Given the description of an element on the screen output the (x, y) to click on. 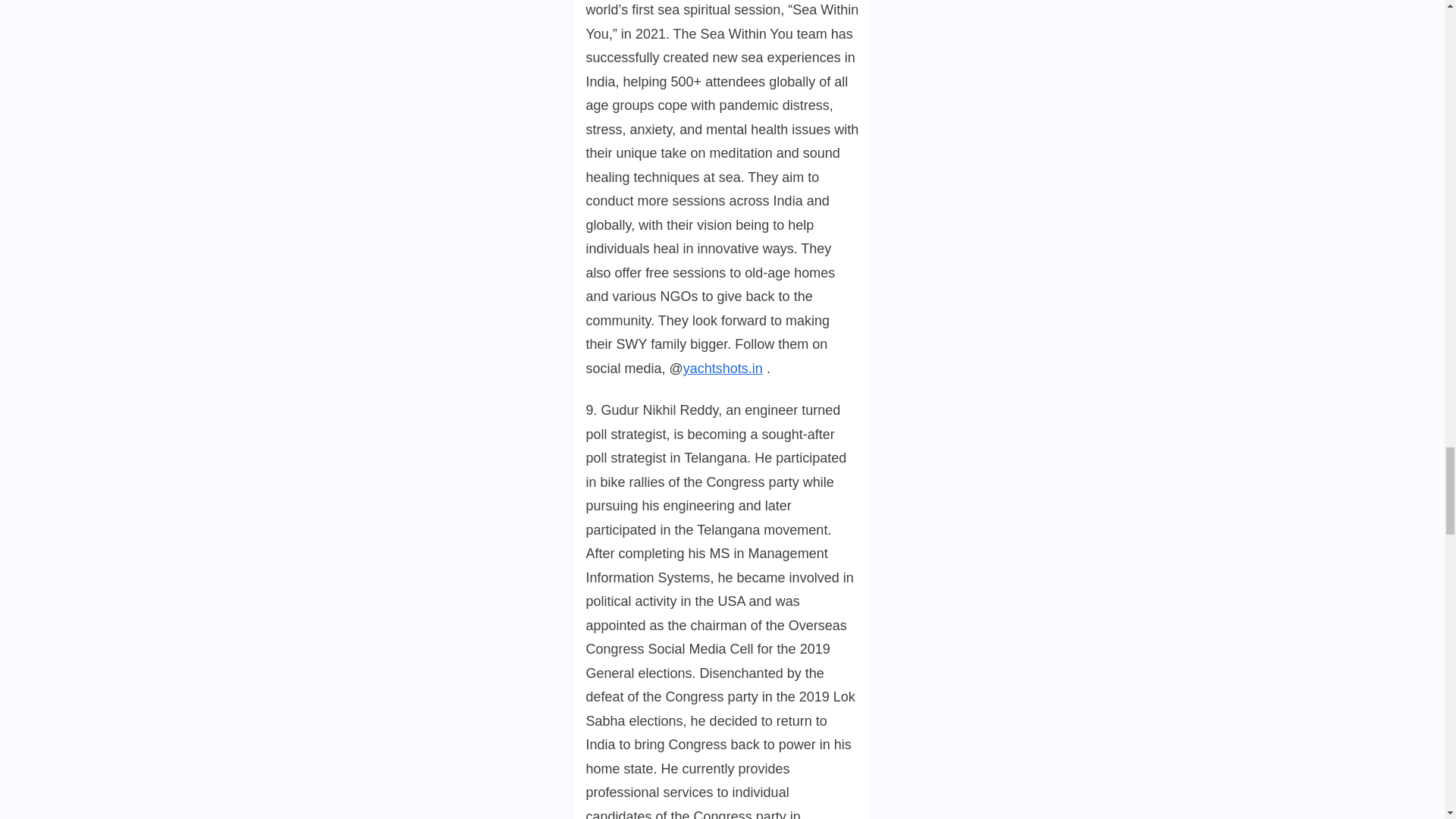
yachtshots.in (722, 368)
